Given the description of an element on the screen output the (x, y) to click on. 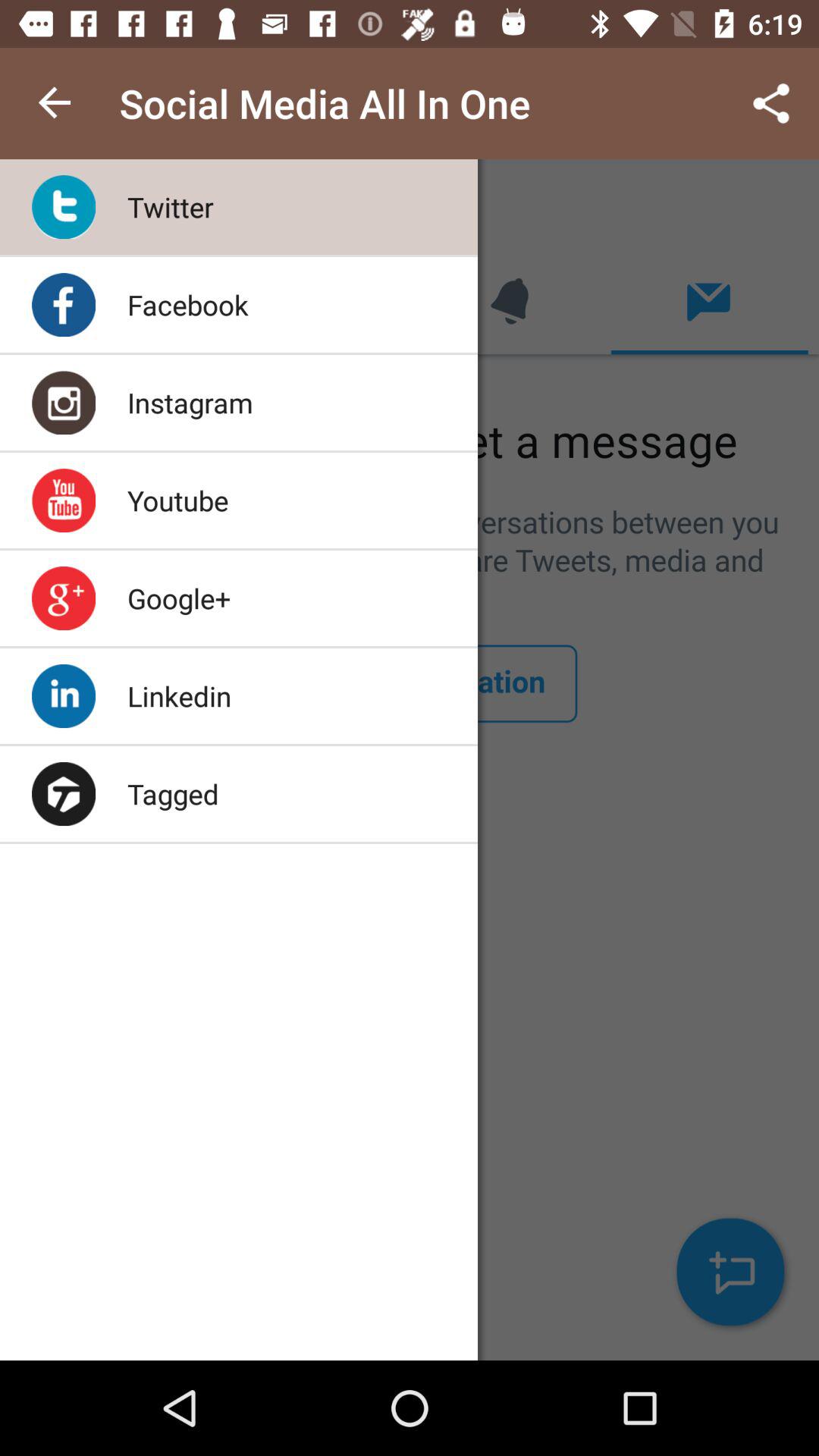
select social medias (409, 759)
